Given the description of an element on the screen output the (x, y) to click on. 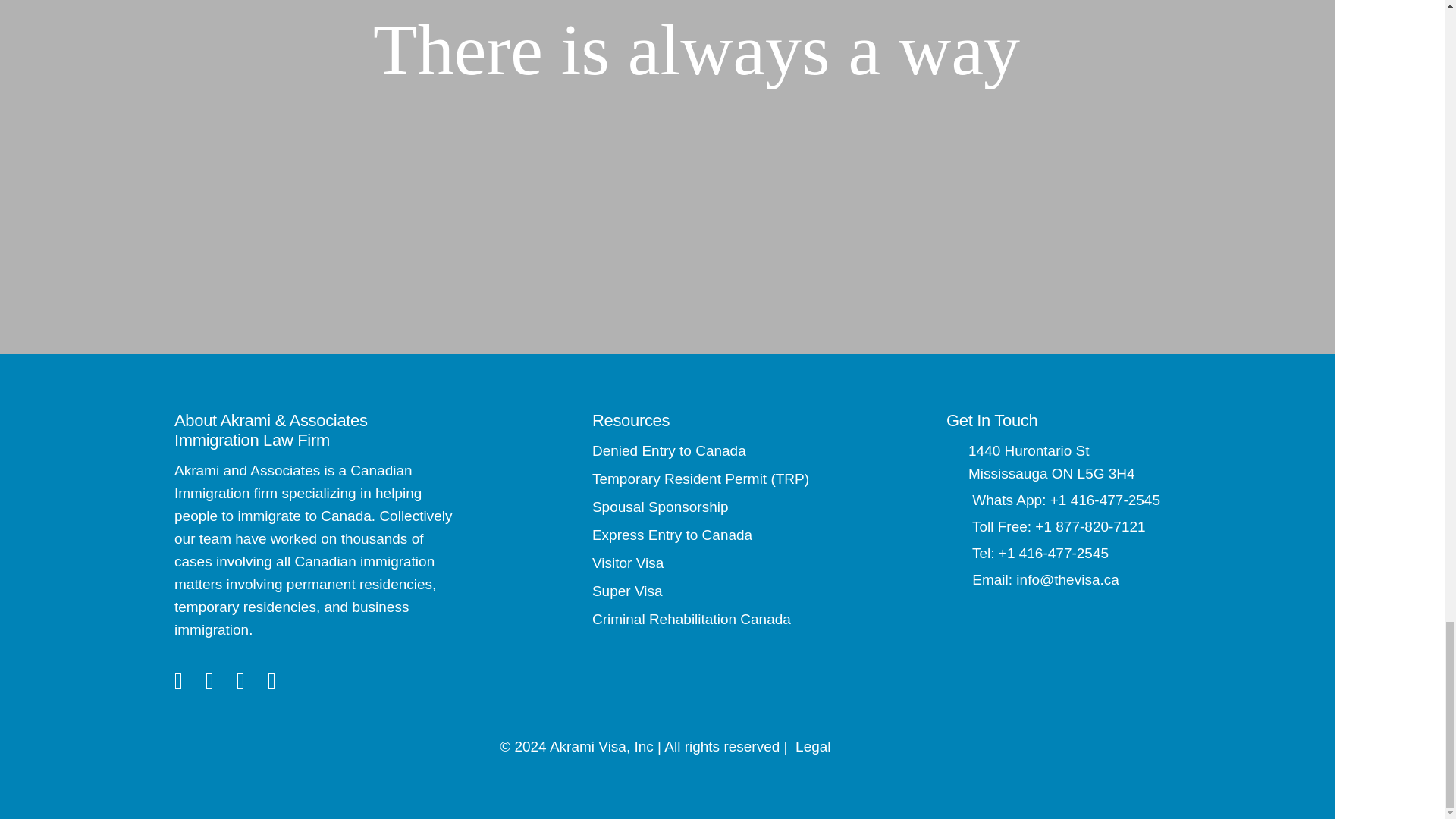
linkedin (239, 680)
logo-element (336, 50)
facebook (178, 680)
twitter (209, 680)
youtube (271, 680)
